Given the description of an element on the screen output the (x, y) to click on. 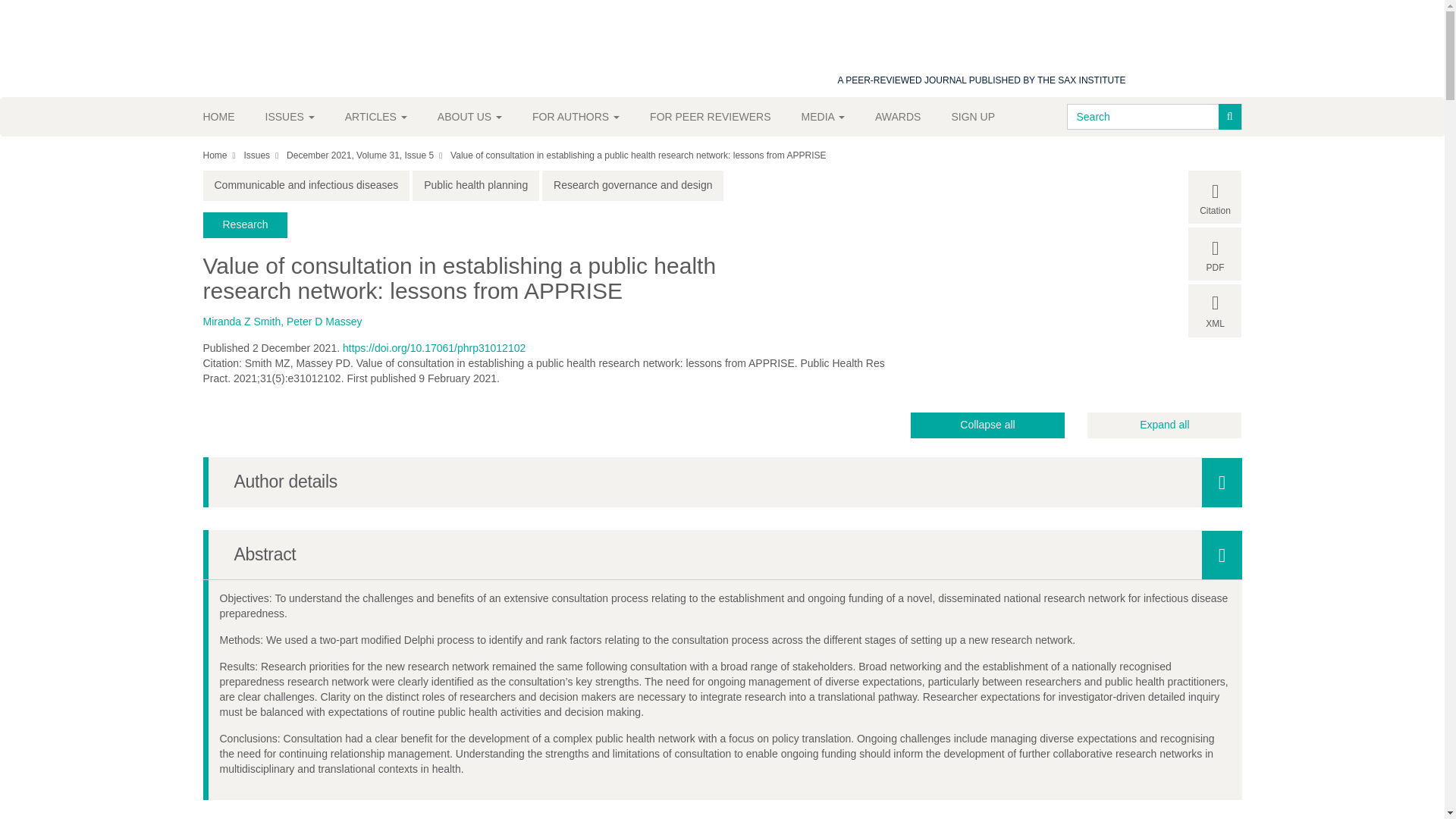
ISSUES (290, 116)
Issues (290, 116)
ARTICLES (376, 116)
Visit Sax Institute (898, 40)
MEDIA (823, 116)
ABOUT US (469, 116)
FOR AUTHORS (575, 116)
FOR PEER REVIEWERS (710, 116)
Articles (376, 116)
Home (226, 116)
